Given the description of an element on the screen output the (x, y) to click on. 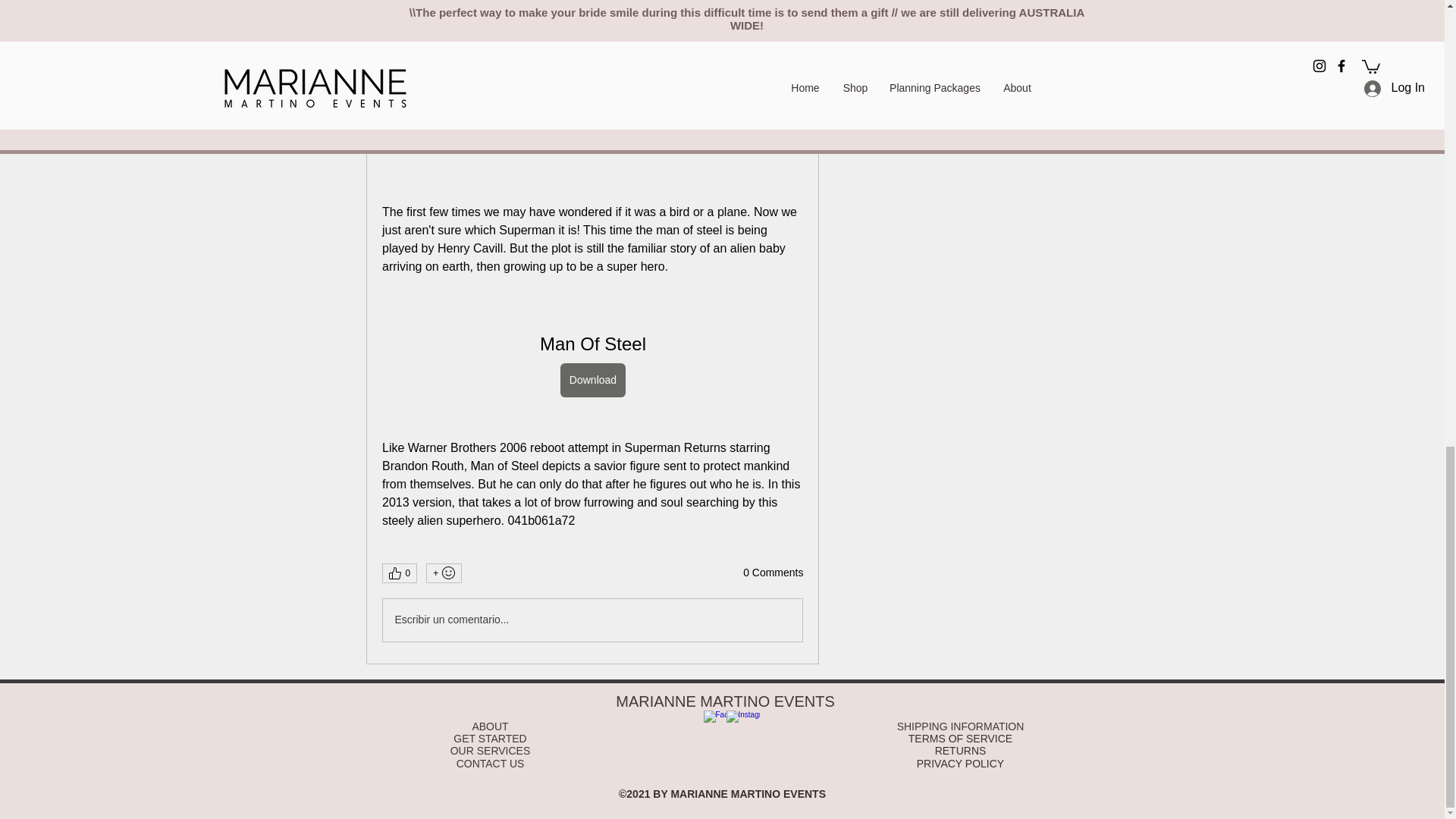
Download (591, 380)
Escribir un comentario... (591, 619)
0 Comments (772, 572)
